Given the description of an element on the screen output the (x, y) to click on. 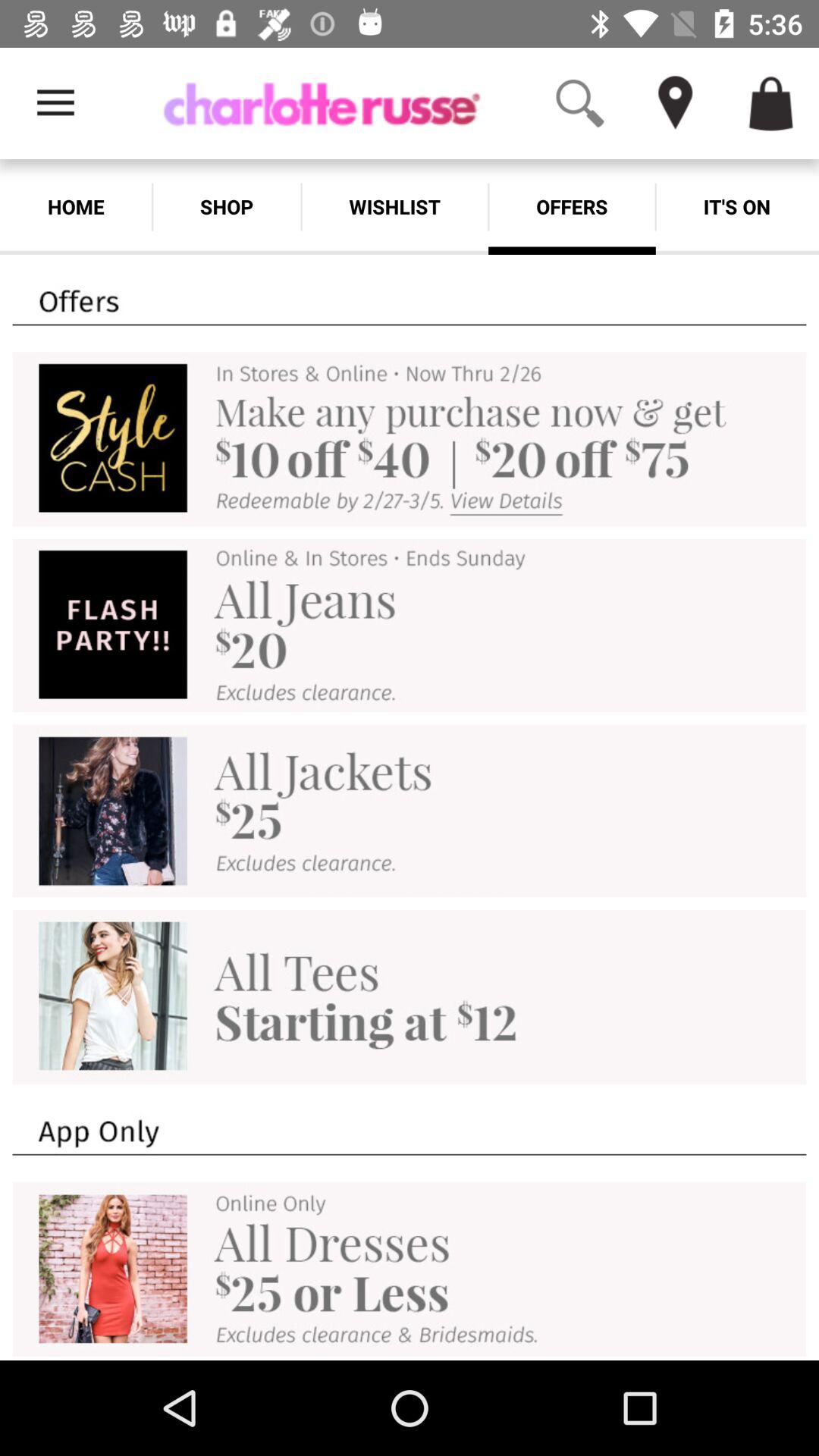
tap it's on app (736, 206)
